Given the description of an element on the screen output the (x, y) to click on. 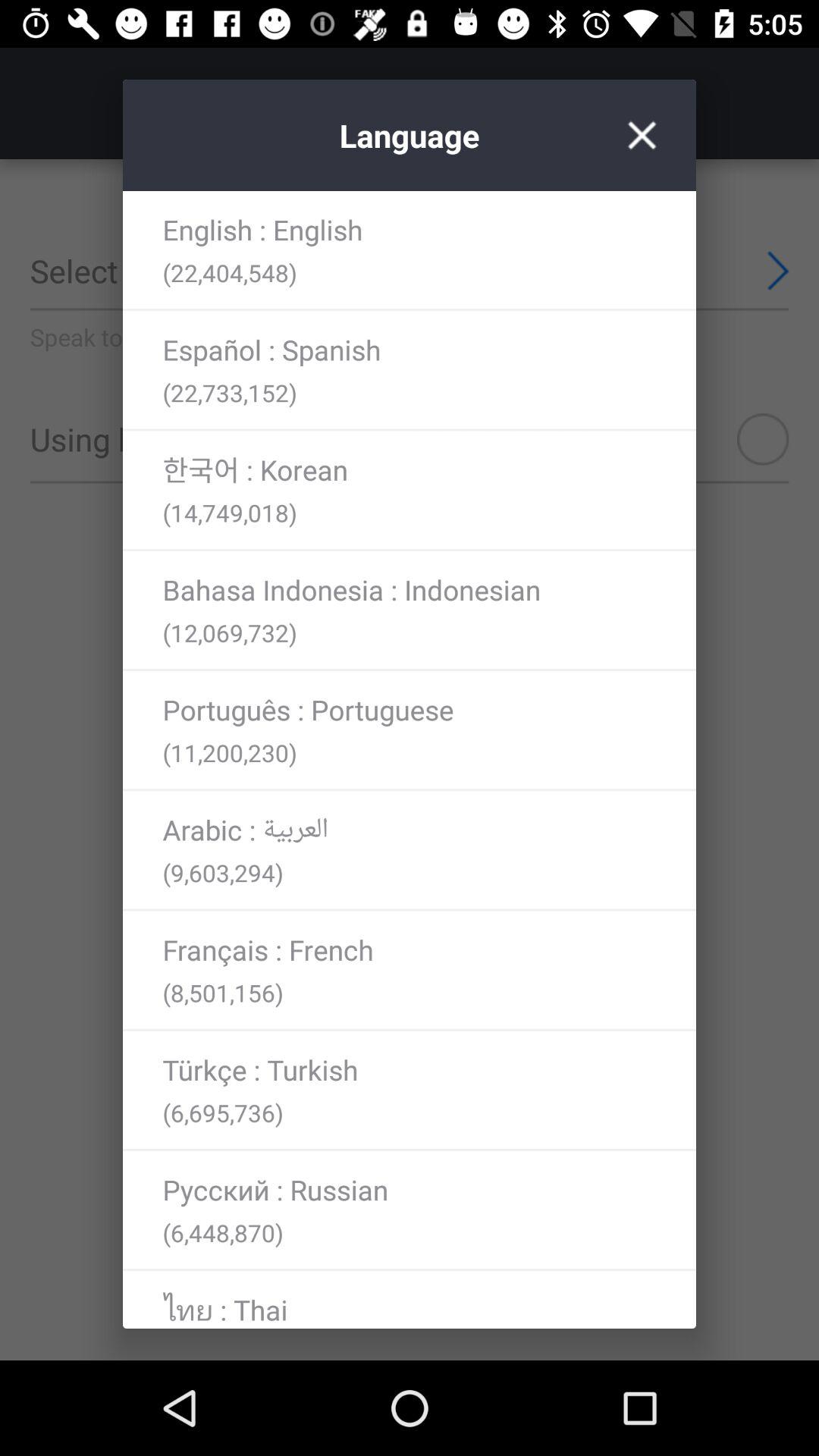
close (642, 135)
